Given the description of an element on the screen output the (x, y) to click on. 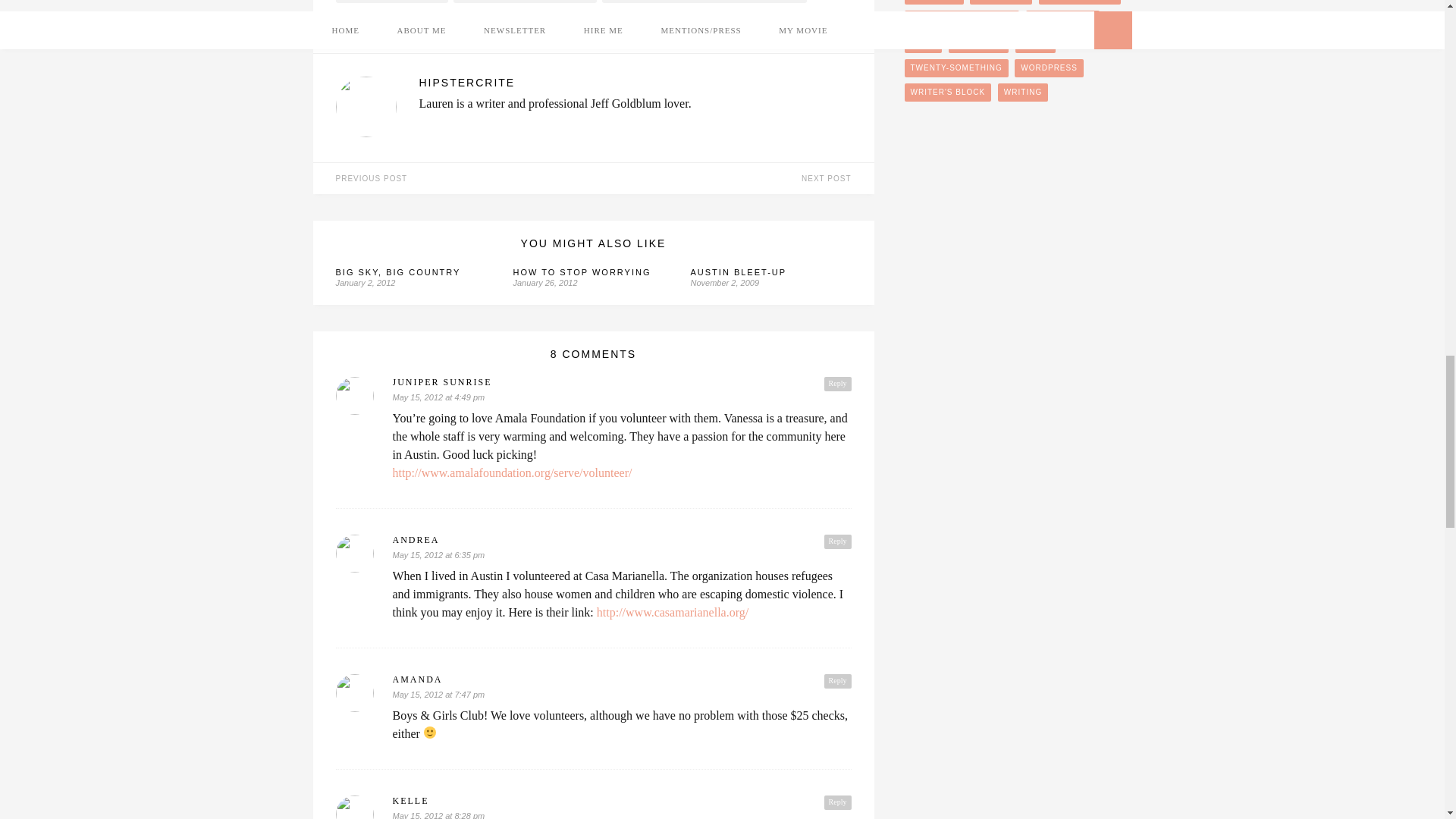
Posts by hipstercrite (440, 23)
Posts by hipstercrite (634, 82)
VOLUNTEERING IN AUSTIN (524, 1)
VOUNTEER OPPORTUNITIES IN AUSTIN (704, 1)
NON-PROFIT AUSTIN (391, 1)
